Given the description of an element on the screen output the (x, y) to click on. 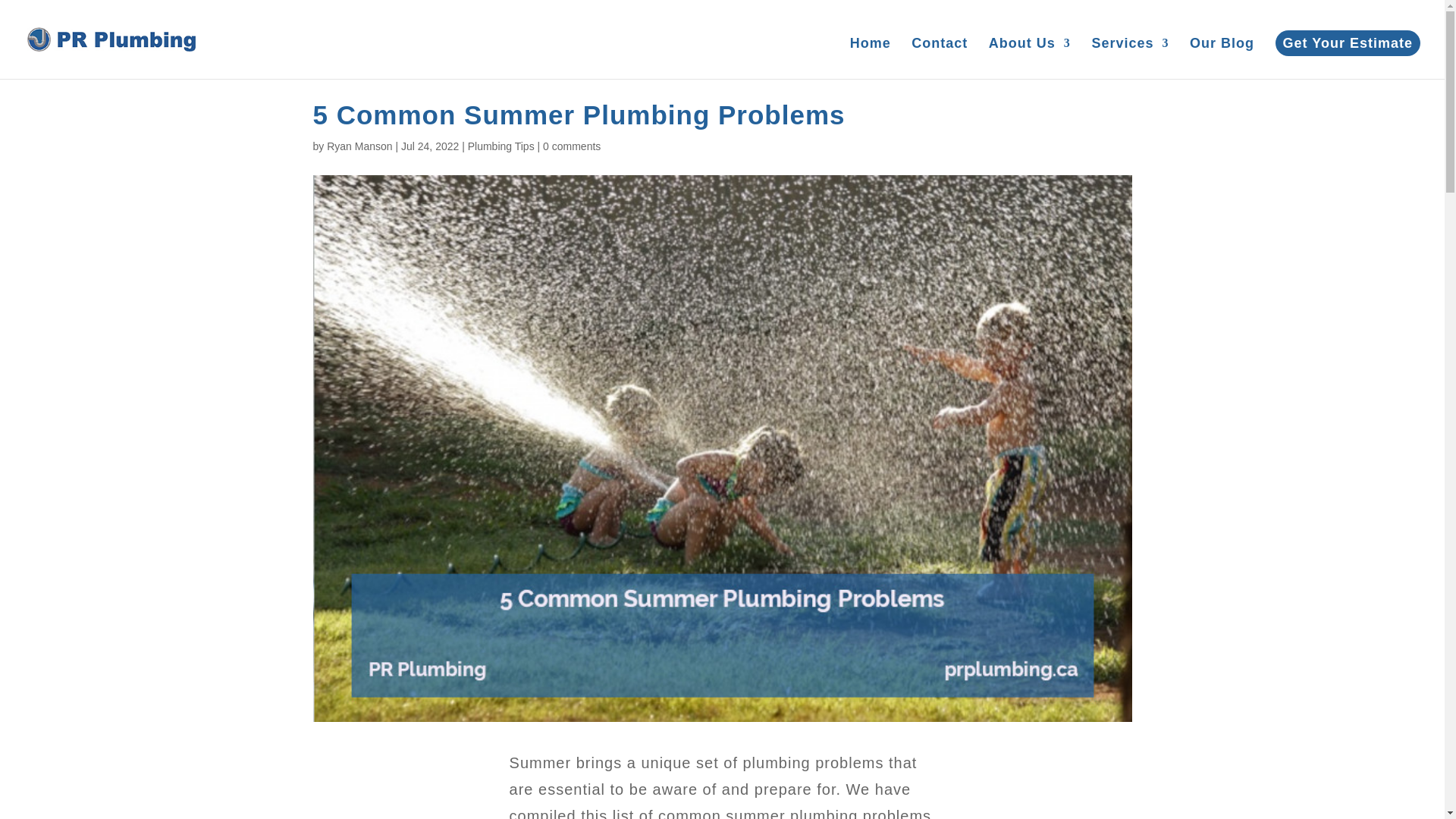
Posts by Ryan Manson (358, 146)
Home (870, 57)
Our Blog (1221, 57)
Get Your Estimate (1348, 43)
About Us (1029, 57)
Contact (939, 57)
Plumbing Tips (500, 146)
Services (1129, 57)
Ryan Manson (358, 146)
0 comments (571, 146)
